Given the description of an element on the screen output the (x, y) to click on. 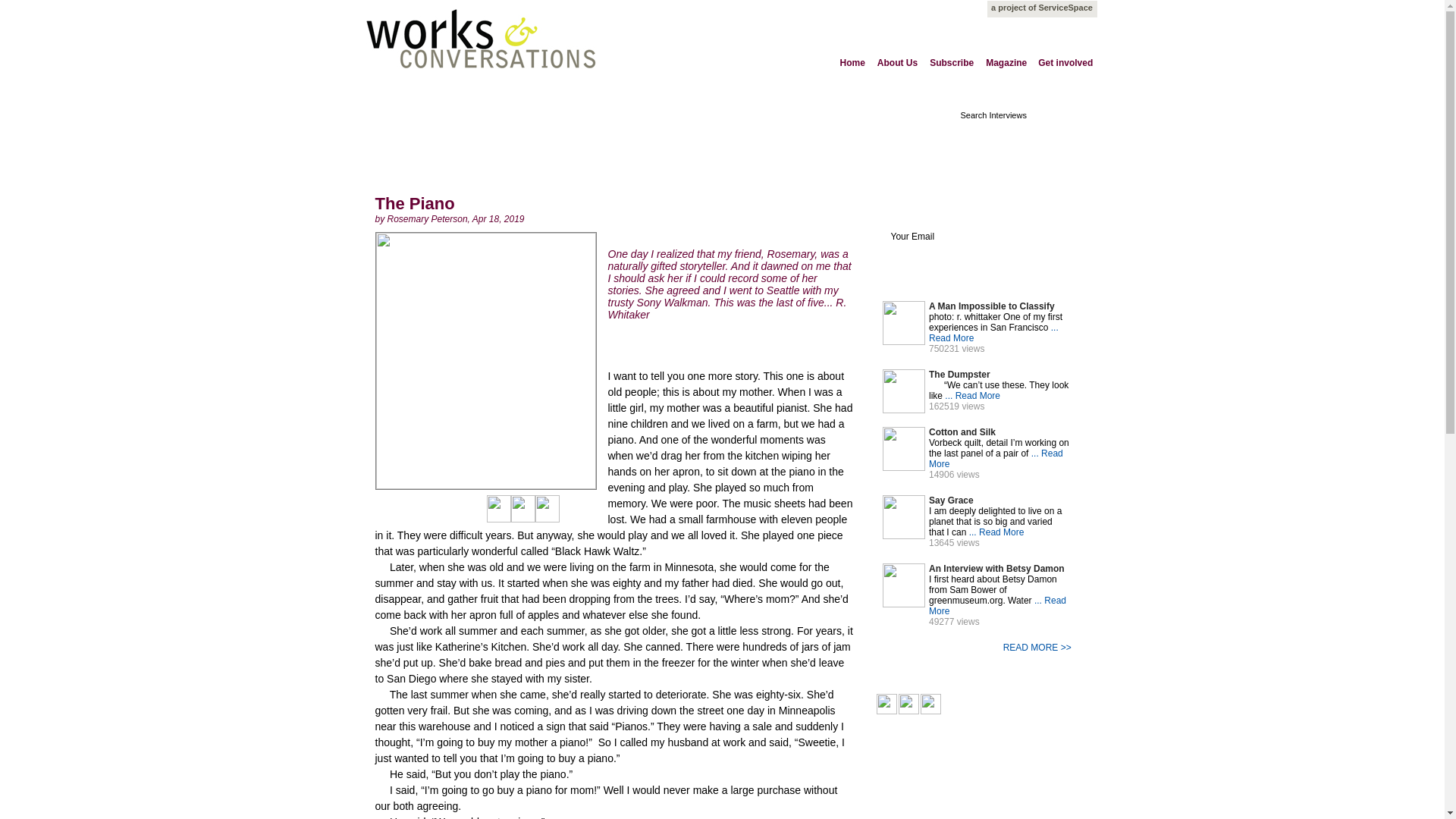
Latest Issue (835, 114)
active (931, 277)
An Interview with Betsy Damon (998, 568)
Subscribe (952, 62)
... Read More (996, 605)
... Read More (993, 332)
... Read More (972, 395)
Artists (387, 114)
Social Change (675, 114)
Search Interviews (1010, 115)
